Given the description of an element on the screen output the (x, y) to click on. 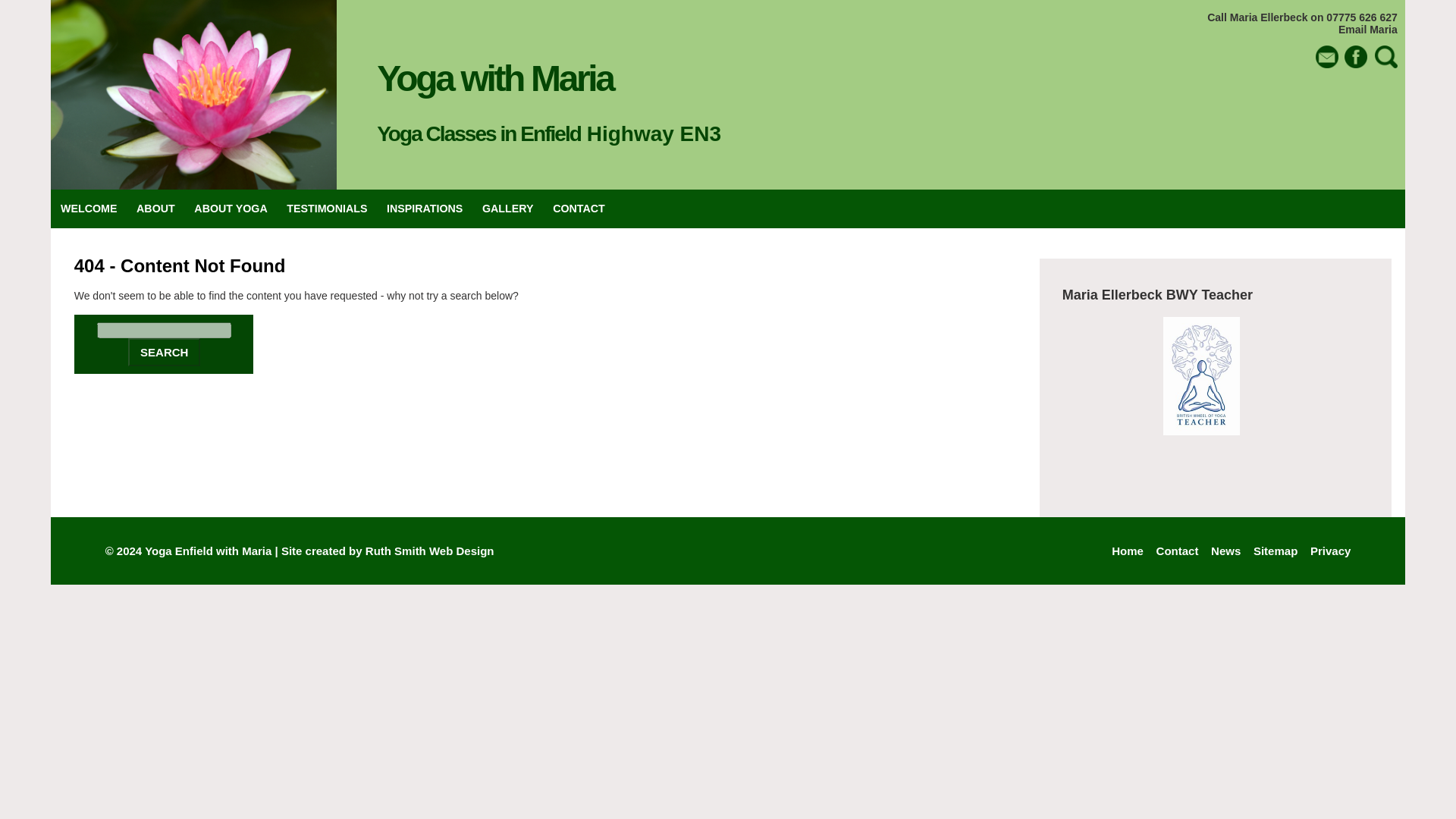
ABOUT YOGA (231, 208)
TESTIMONIALS (327, 208)
Home (1127, 550)
News (1225, 550)
Email Maria (1367, 29)
Sitemap (1275, 550)
WELCOME (88, 208)
Follow Yoga with Maria on Facebook (1355, 56)
Search (164, 352)
CONTACT (578, 208)
Yoga Enfield (178, 550)
ABOUT (155, 208)
Privacy (1330, 550)
Contact (1177, 550)
Search (164, 352)
